Given the description of an element on the screen output the (x, y) to click on. 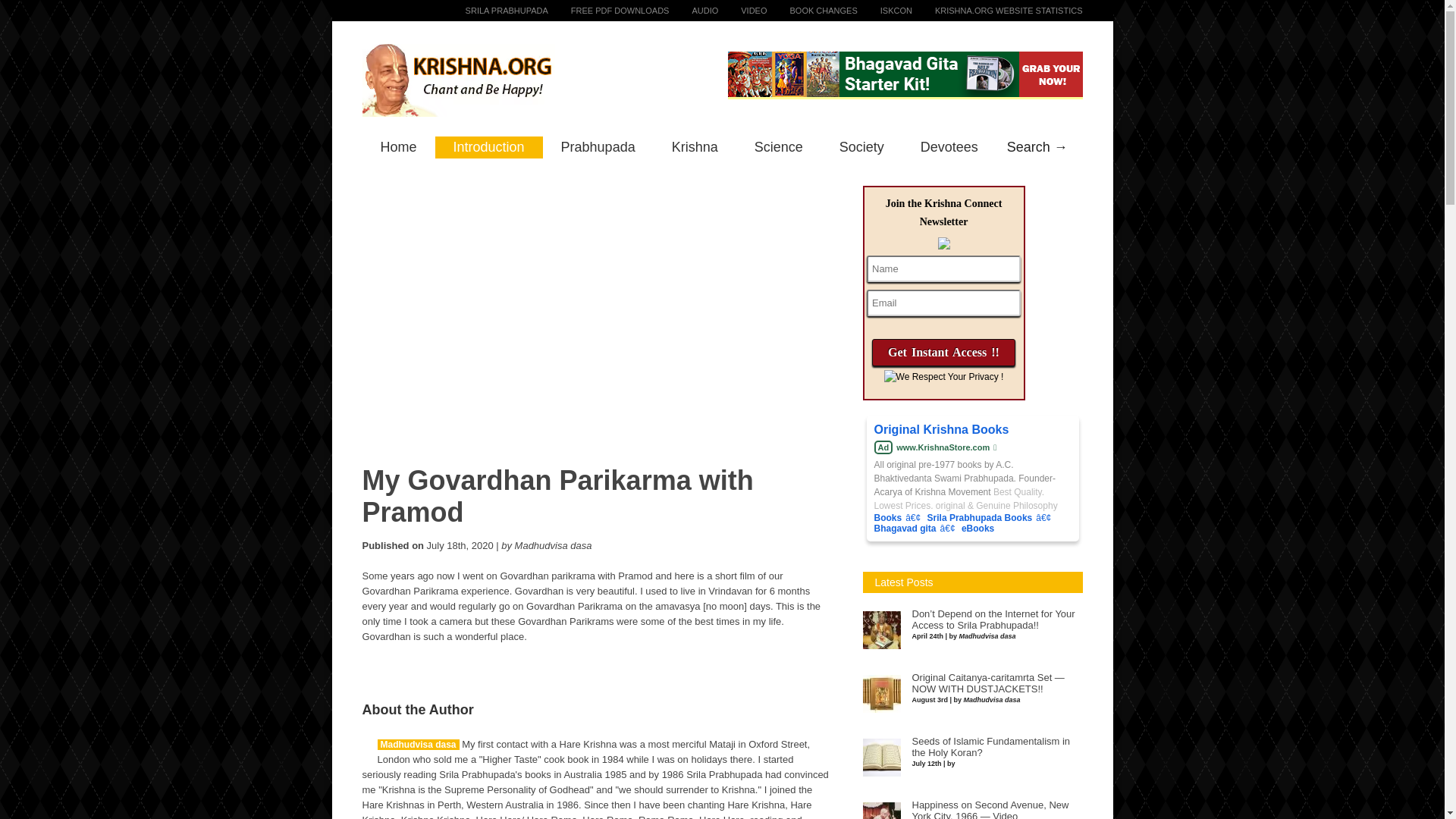
Get Instant Access !! (943, 352)
Science (778, 147)
BOOK CHANGES (812, 10)
Bhagavad Gita Asitis book with bonus dvd (905, 74)
AUDIO (692, 10)
VIDEO (742, 10)
Home (398, 147)
Seeds of Islamic Fundamentalism in the Holy Koran? (990, 747)
Posts by Madhudvisa dasa (418, 744)
SRILA PRABHUPADA (495, 10)
KRISHNA.ORG WEBSITE STATISTICS (997, 10)
ISKCON (884, 10)
Krishna (694, 147)
Introduction (489, 147)
FREE PDF DOWNLOADS (608, 10)
